Given the description of an element on the screen output the (x, y) to click on. 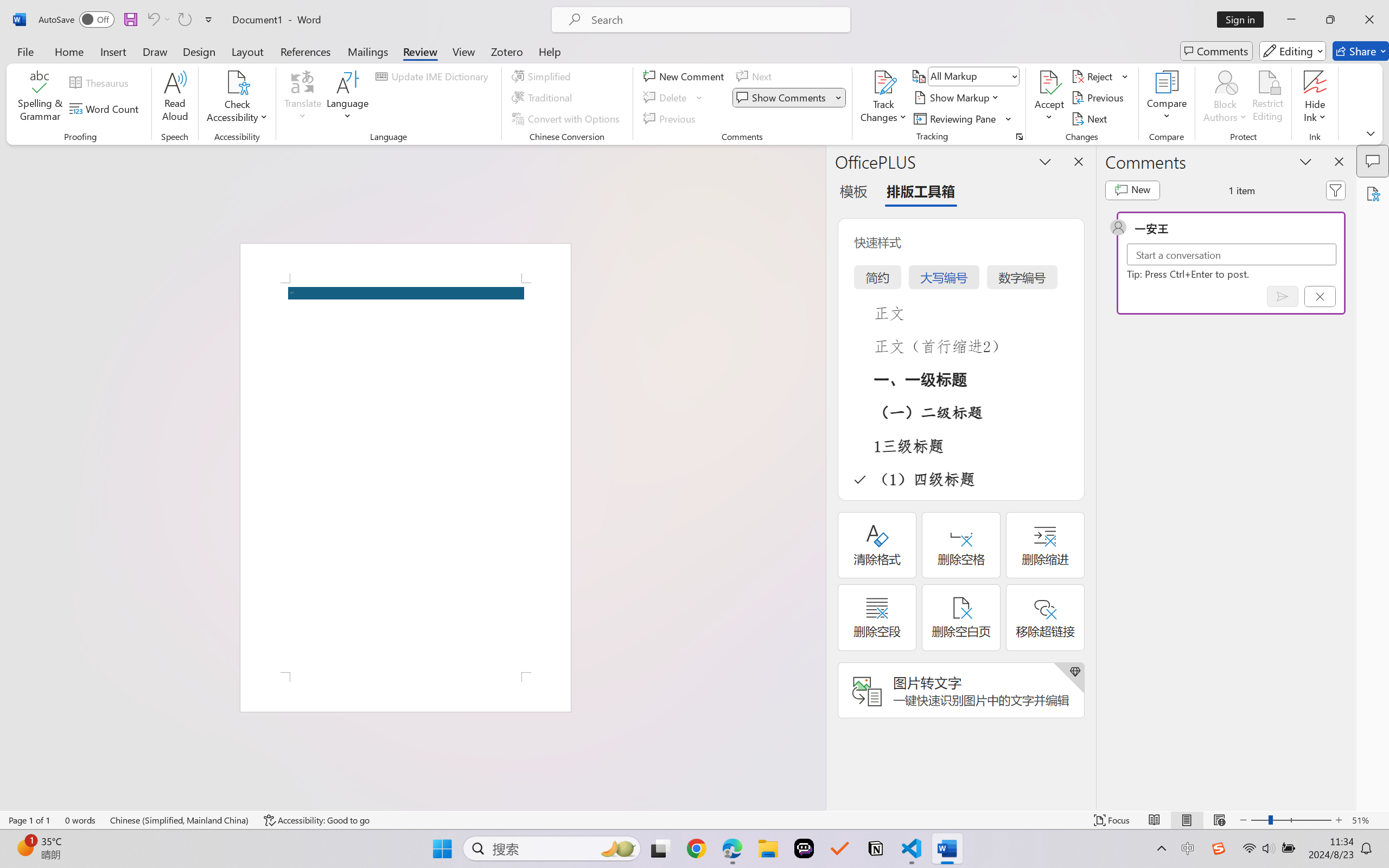
Reviewing Pane (955, 118)
Delete (673, 97)
Reject and Move to Next (1093, 75)
Filter (1335, 190)
Compare (1166, 97)
Undo Apply Quick Style Set (158, 19)
Sign in (1244, 19)
